Given the description of an element on the screen output the (x, y) to click on. 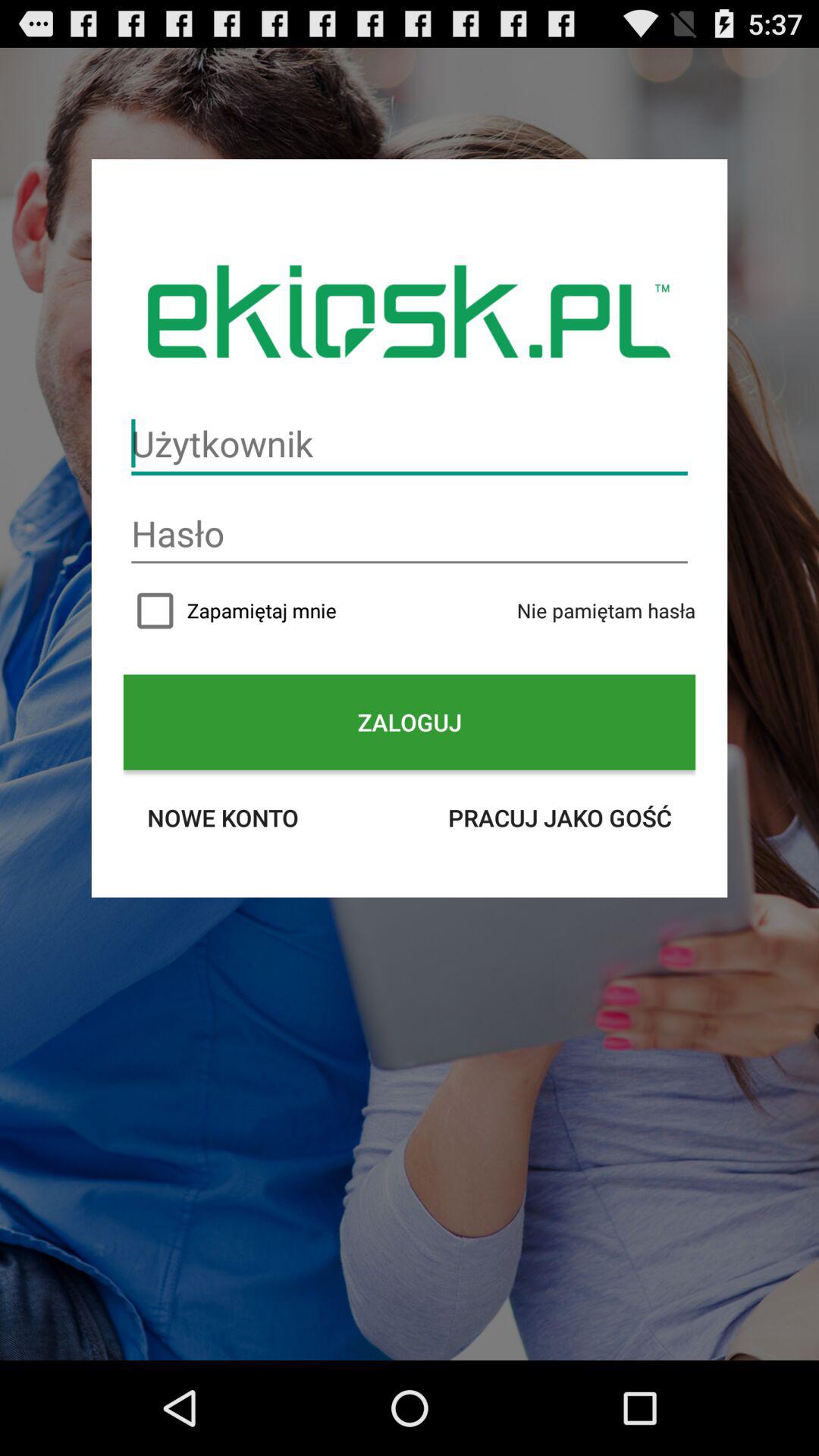
select the zaloguj icon (409, 722)
